Given the description of an element on the screen output the (x, y) to click on. 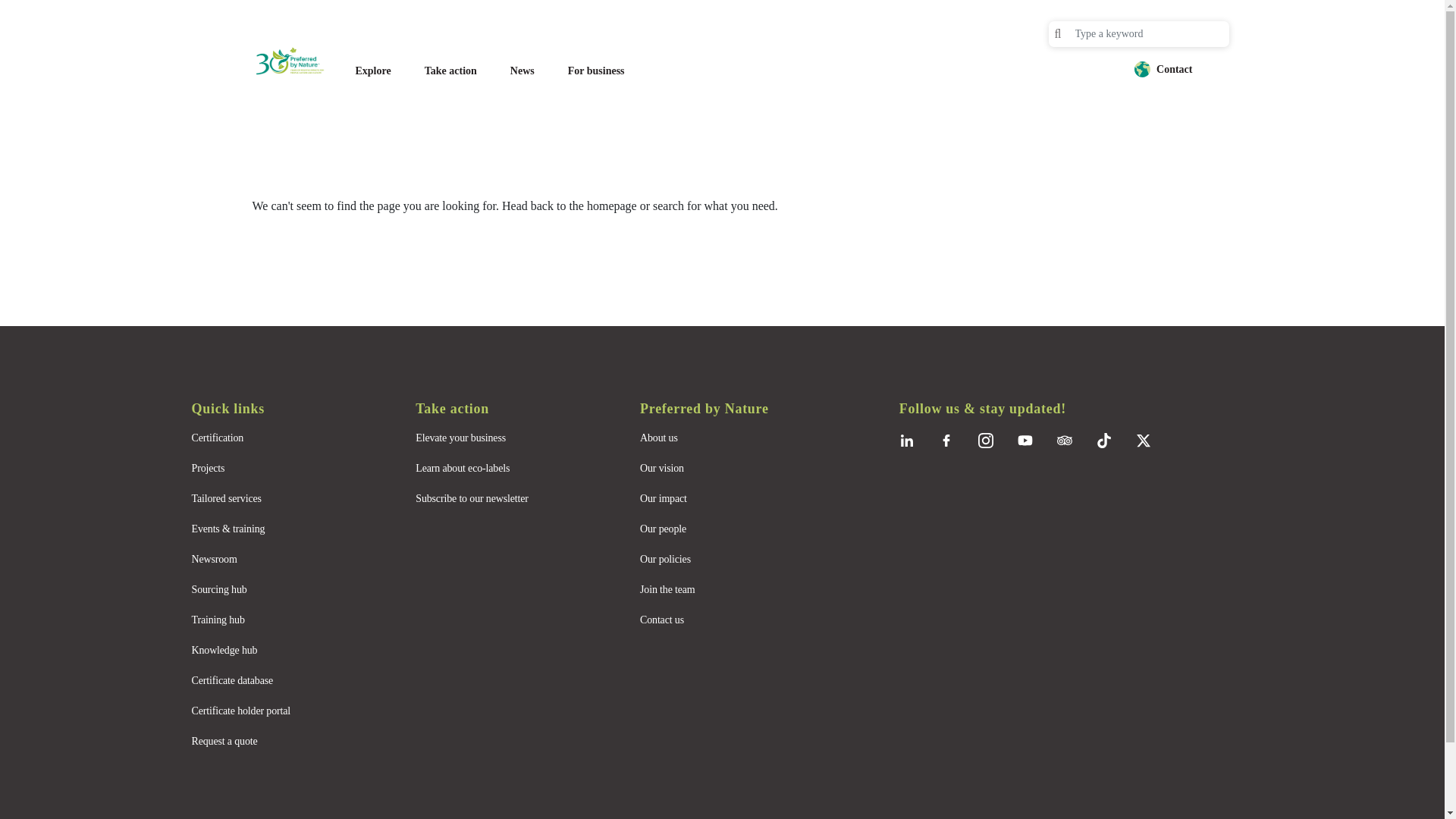
For Business (595, 70)
Home (296, 60)
